Given the description of an element on the screen output the (x, y) to click on. 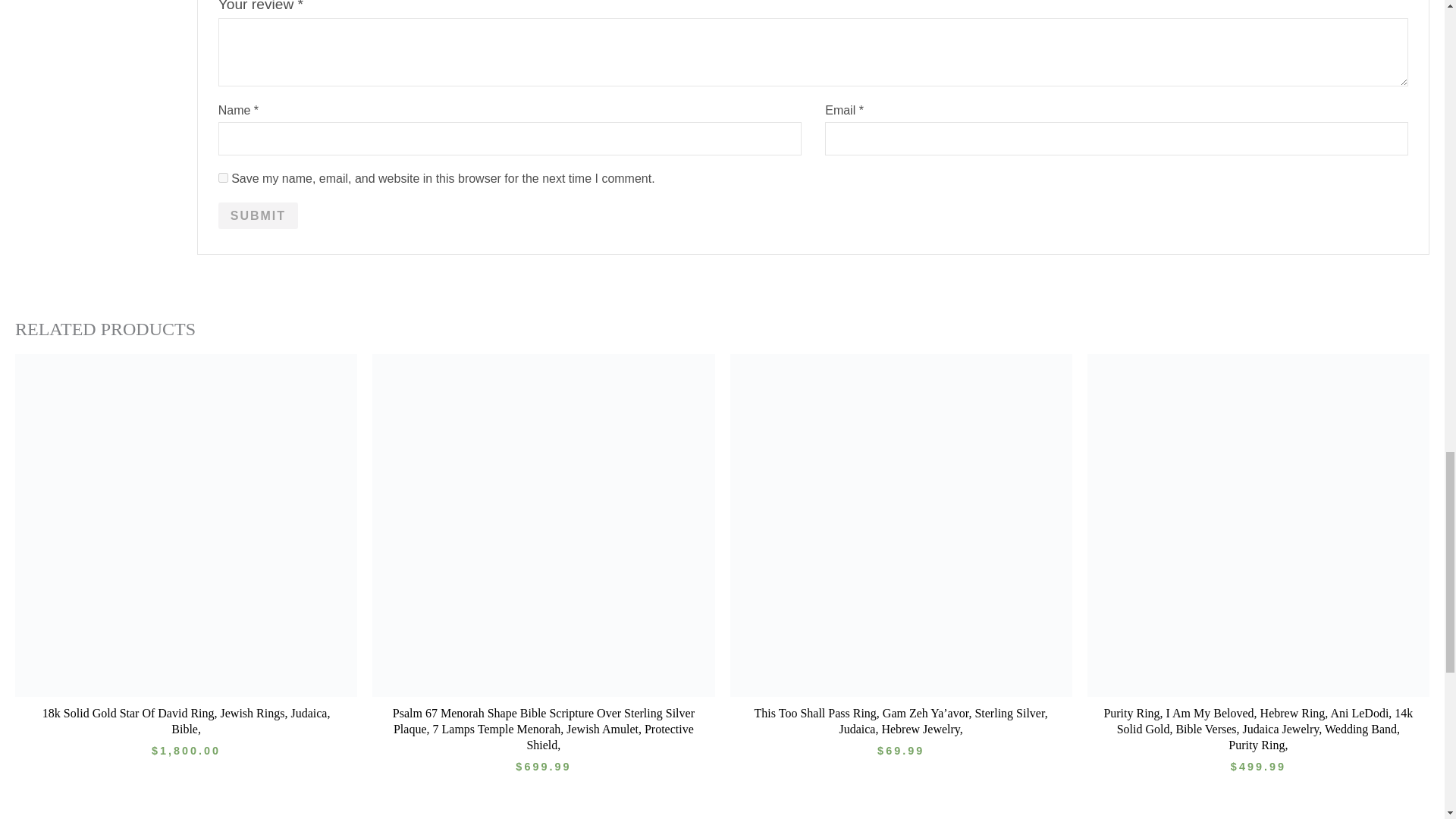
Submit (258, 216)
yes (223, 177)
